Given the description of an element on the screen output the (x, y) to click on. 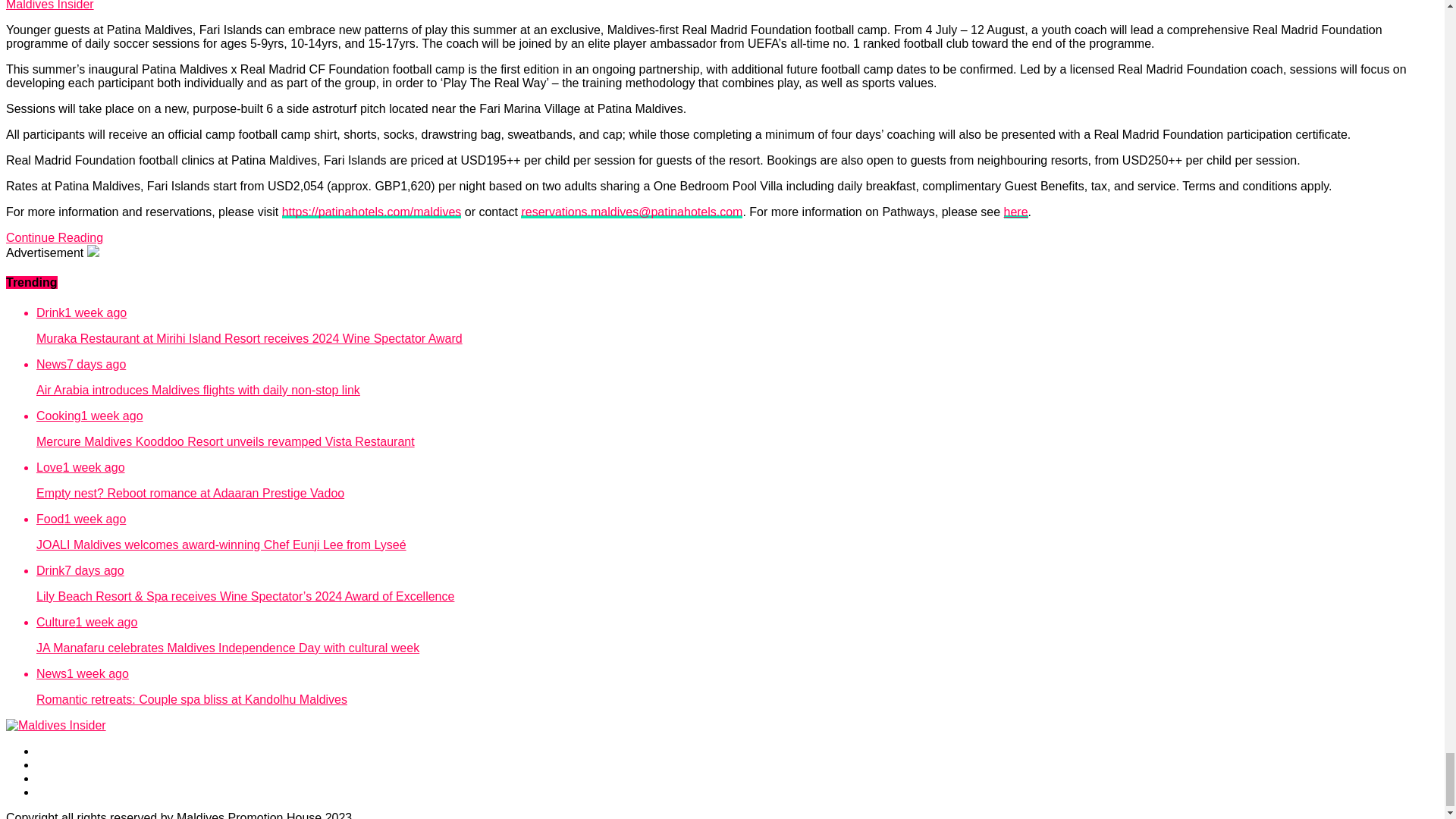
Posts by Maldives Insider (49, 5)
